Given the description of an element on the screen output the (x, y) to click on. 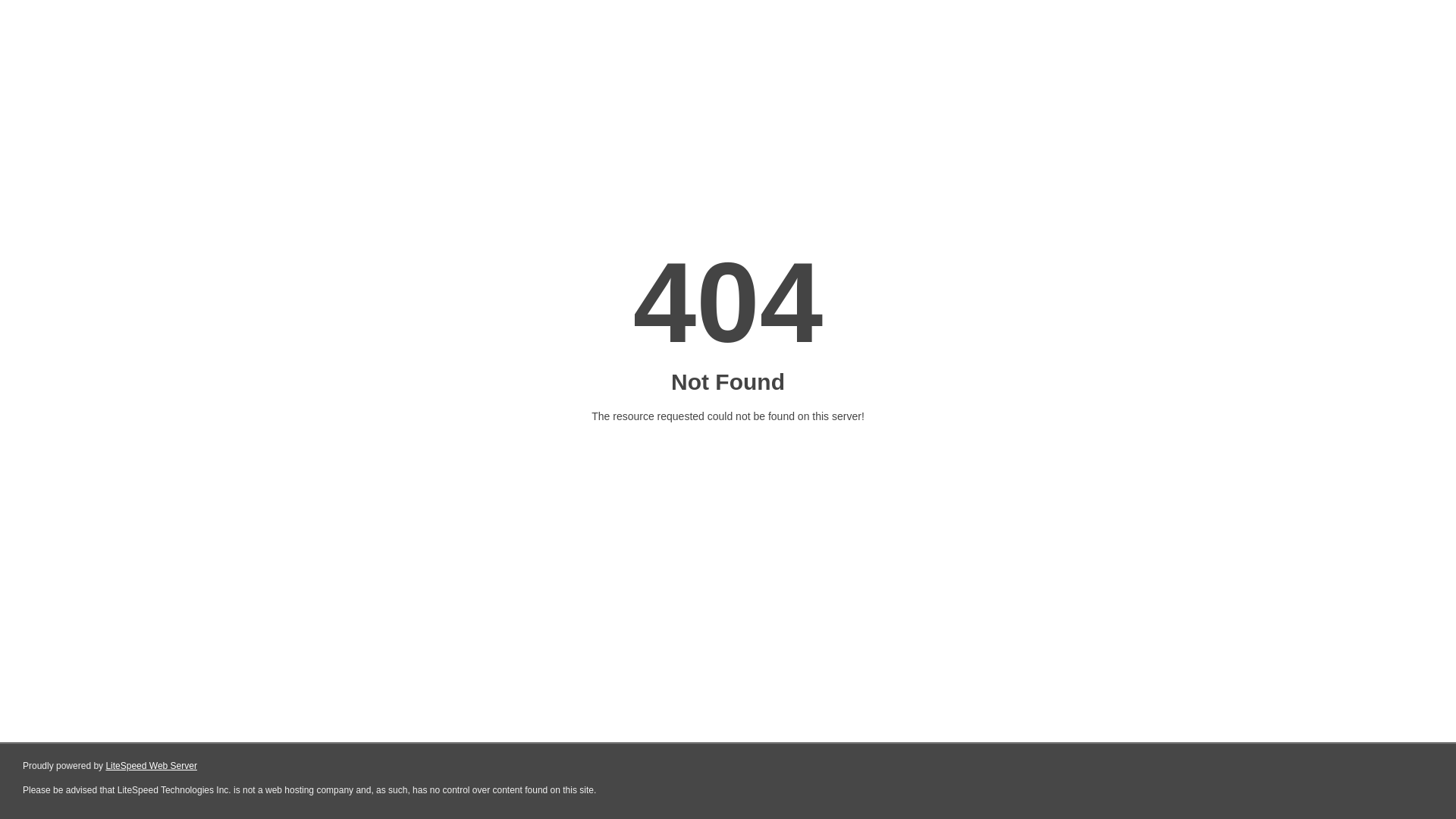
LiteSpeed Web Server Element type: text (151, 765)
